Given the description of an element on the screen output the (x, y) to click on. 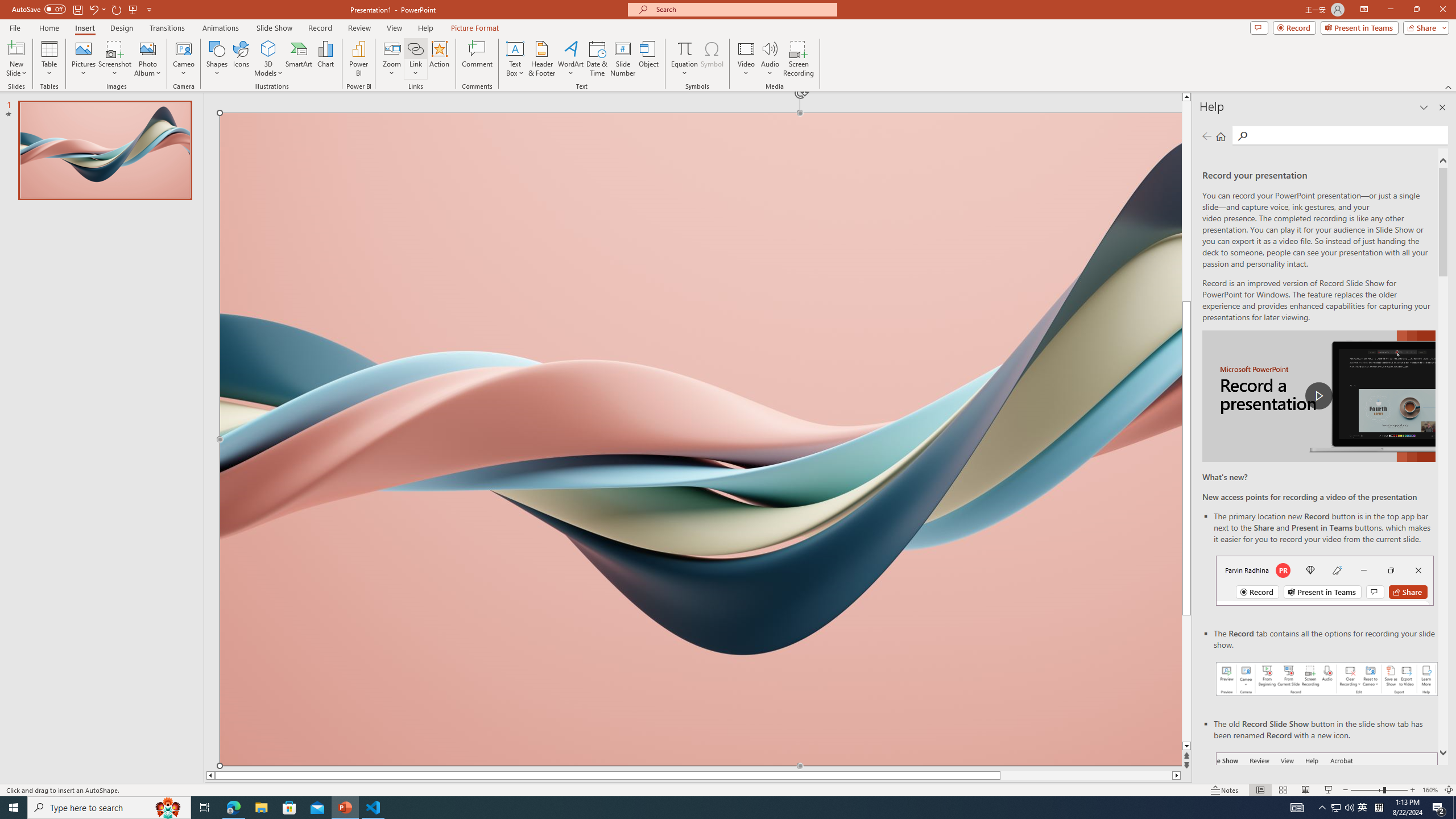
Object... (649, 58)
Record your presentations screenshot one (1326, 678)
Picture Format (475, 28)
Video (745, 58)
Screen Recording... (798, 58)
